Given the description of an element on the screen output the (x, y) to click on. 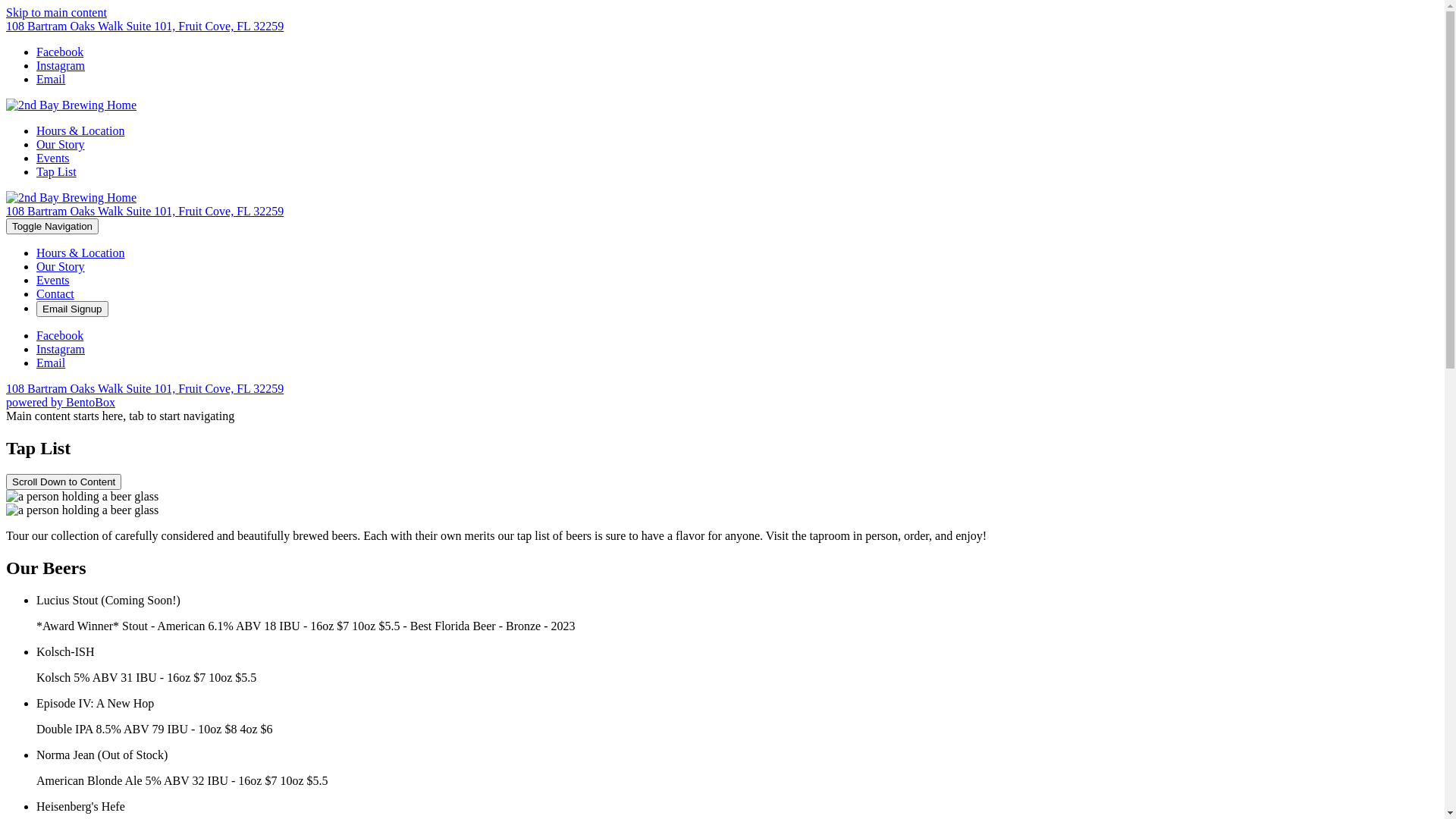
Hours & Location Element type: text (80, 252)
Our Story Element type: text (60, 266)
Toggle Navigation Element type: text (52, 226)
Hours & Location Element type: text (80, 130)
Contact Element type: text (55, 293)
Events Element type: text (52, 279)
Facebook Element type: text (59, 335)
Email Signup Element type: text (72, 308)
108 Bartram Oaks Walk Suite 101, Fruit Cove, FL 32259 Element type: text (144, 25)
108 Bartram Oaks Walk Suite 101, Fruit Cove, FL 32259 Element type: text (144, 210)
powered by BentoBox Element type: text (60, 401)
Email Element type: text (50, 78)
Events Element type: text (52, 157)
108 Bartram Oaks Walk Suite 101, Fruit Cove, FL 32259 Element type: text (144, 388)
Tap List Element type: text (56, 171)
Instagram Element type: text (60, 348)
Our Story Element type: text (60, 144)
Skip to main content Element type: text (56, 12)
Scroll Down to Content Element type: text (63, 481)
Instagram Element type: text (60, 65)
Facebook Element type: text (59, 51)
Email Element type: text (50, 362)
